Given the description of an element on the screen output the (x, y) to click on. 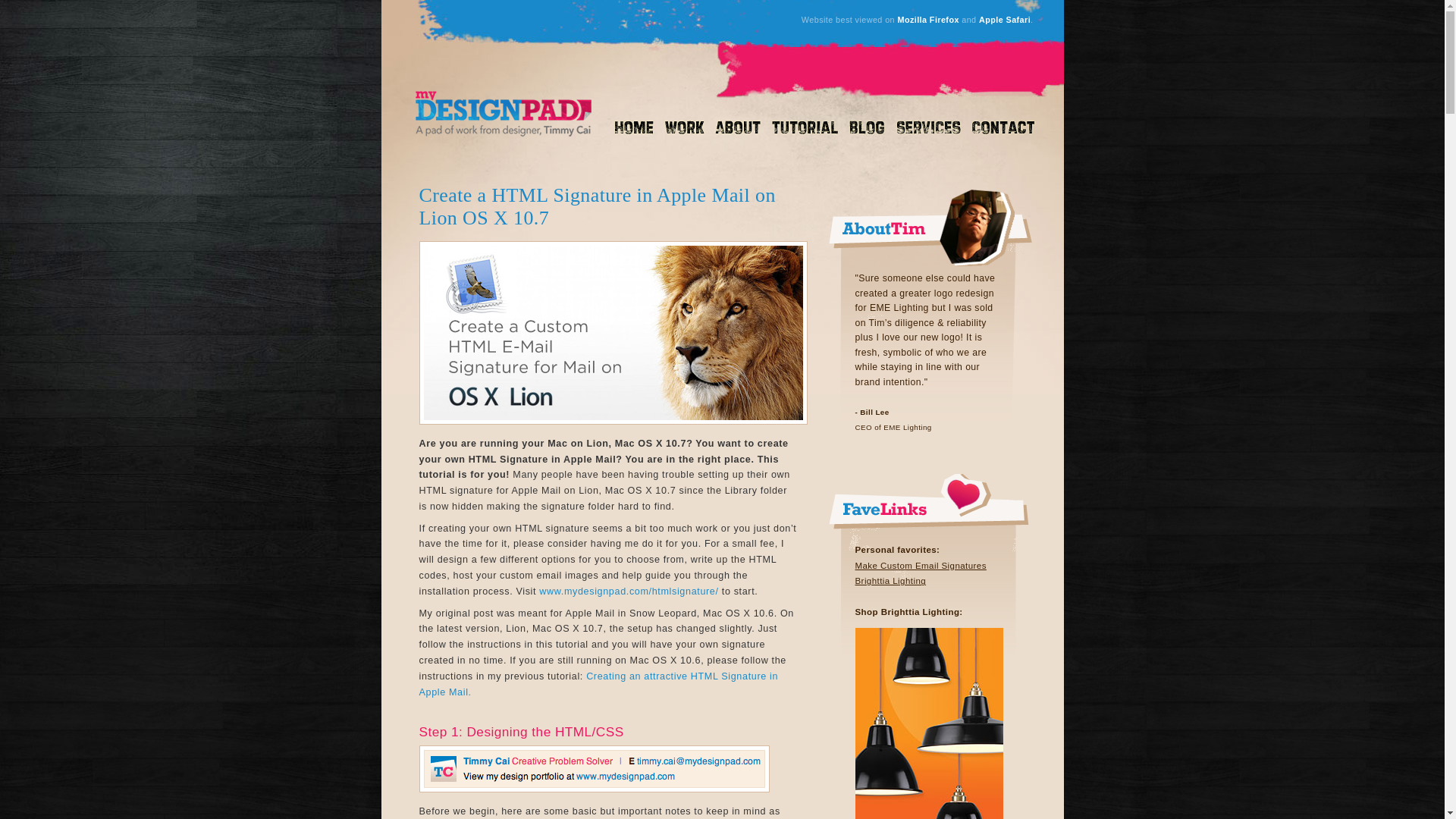
My Design Pad Logo (502, 113)
Tutorial (805, 128)
mac-mail-lion-signature-head (612, 332)
Contact (1004, 128)
Go to Home page (502, 113)
HTML Custom Signature Service (627, 591)
Go to Work page (684, 128)
Home (634, 128)
Mozilla Firefox (927, 19)
Go to Blog page (866, 128)
